Given the description of an element on the screen output the (x, y) to click on. 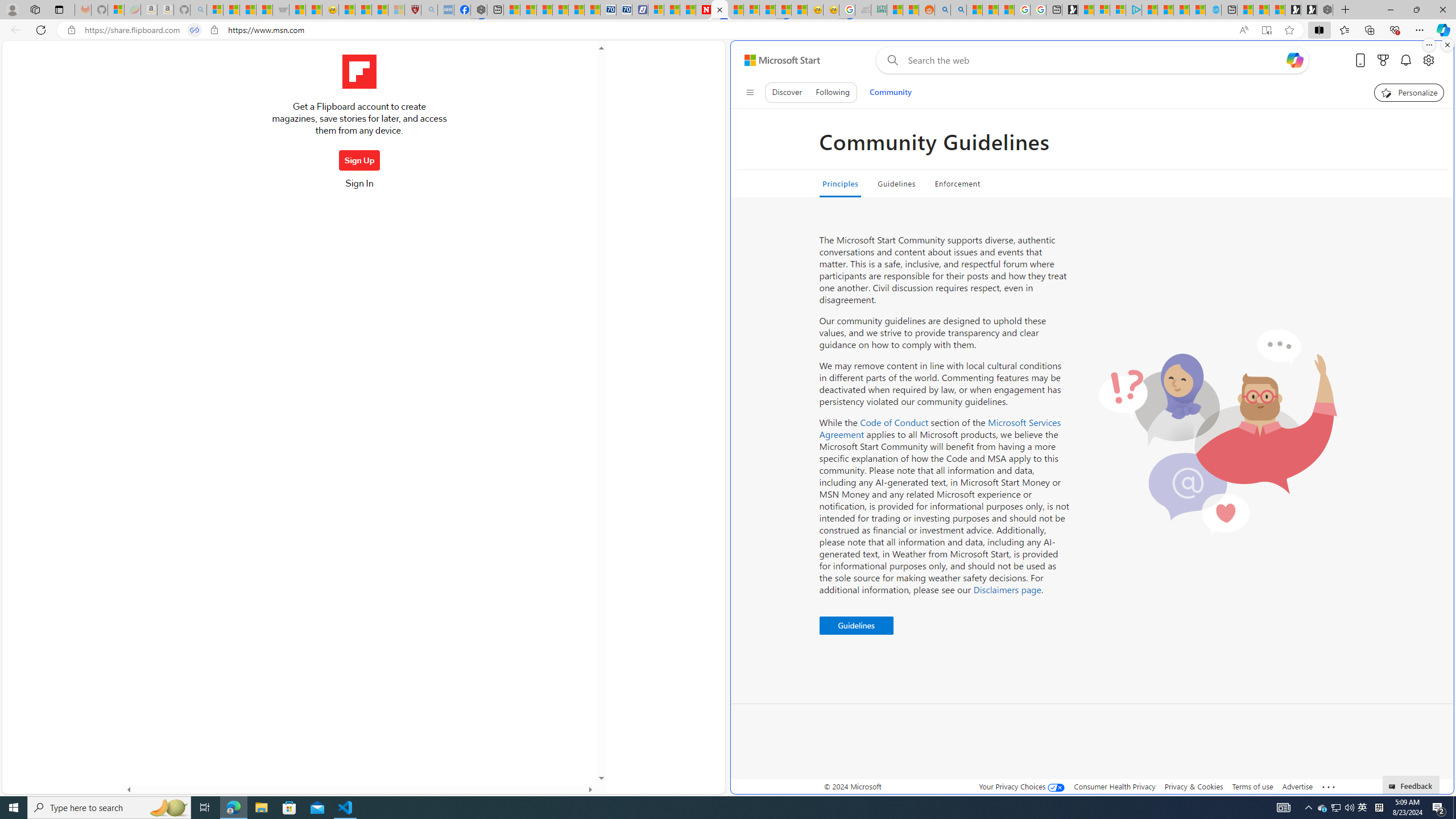
Principles (839, 183)
Privacy & Cookies (1193, 786)
Open settings (1427, 60)
DITOGAMES AG Imprint (878, 9)
More options. (1428, 45)
